Given the description of an element on the screen output the (x, y) to click on. 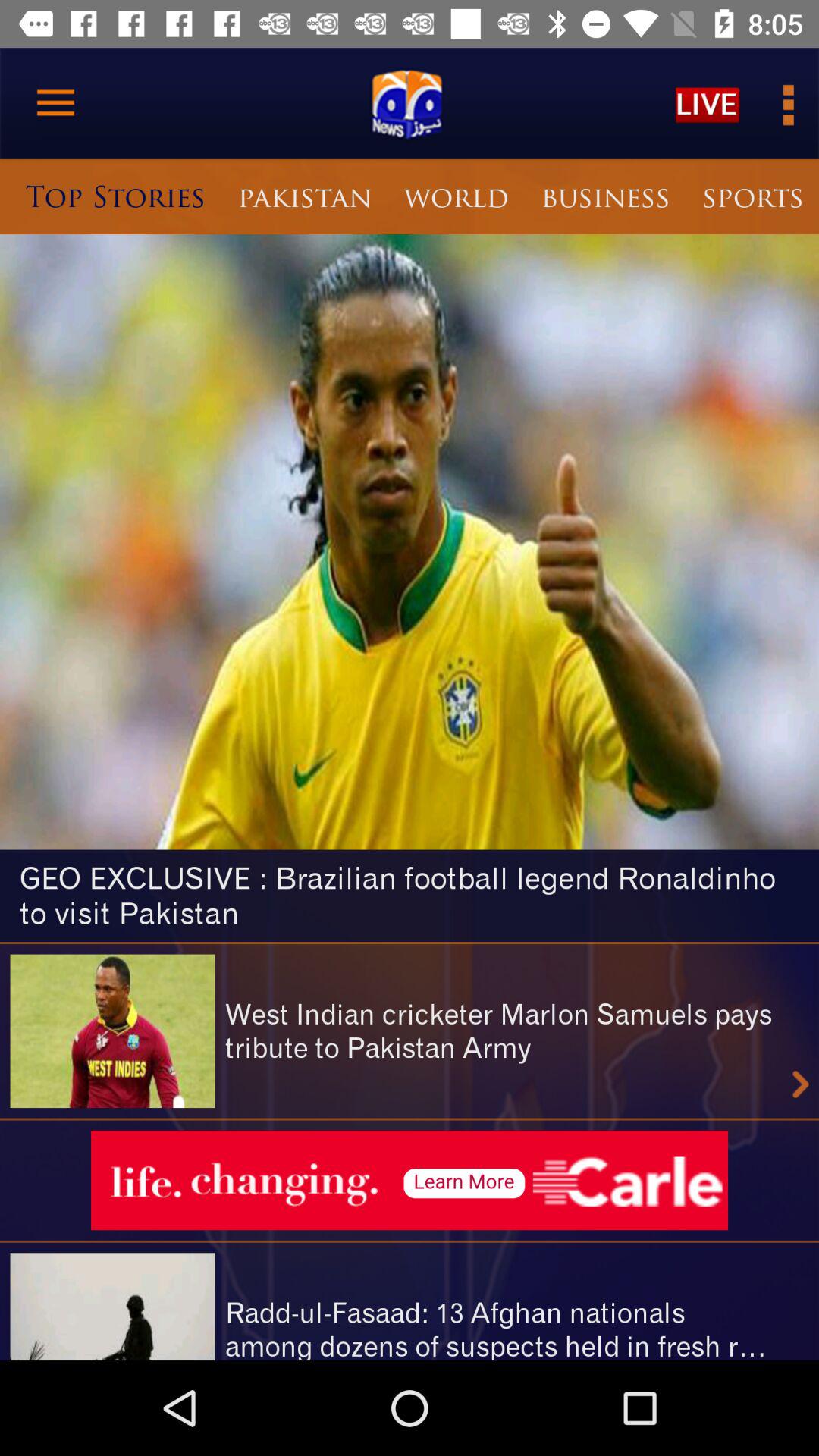
click on the second image from top (112, 1031)
select the image at bottom left corner (112, 1305)
choose the option right side of world (605, 196)
icon left to the 3 dotted vertical line icon (707, 103)
click on the icon right to the live button (787, 103)
click on the arrow (800, 1084)
